Given the description of an element on the screen output the (x, y) to click on. 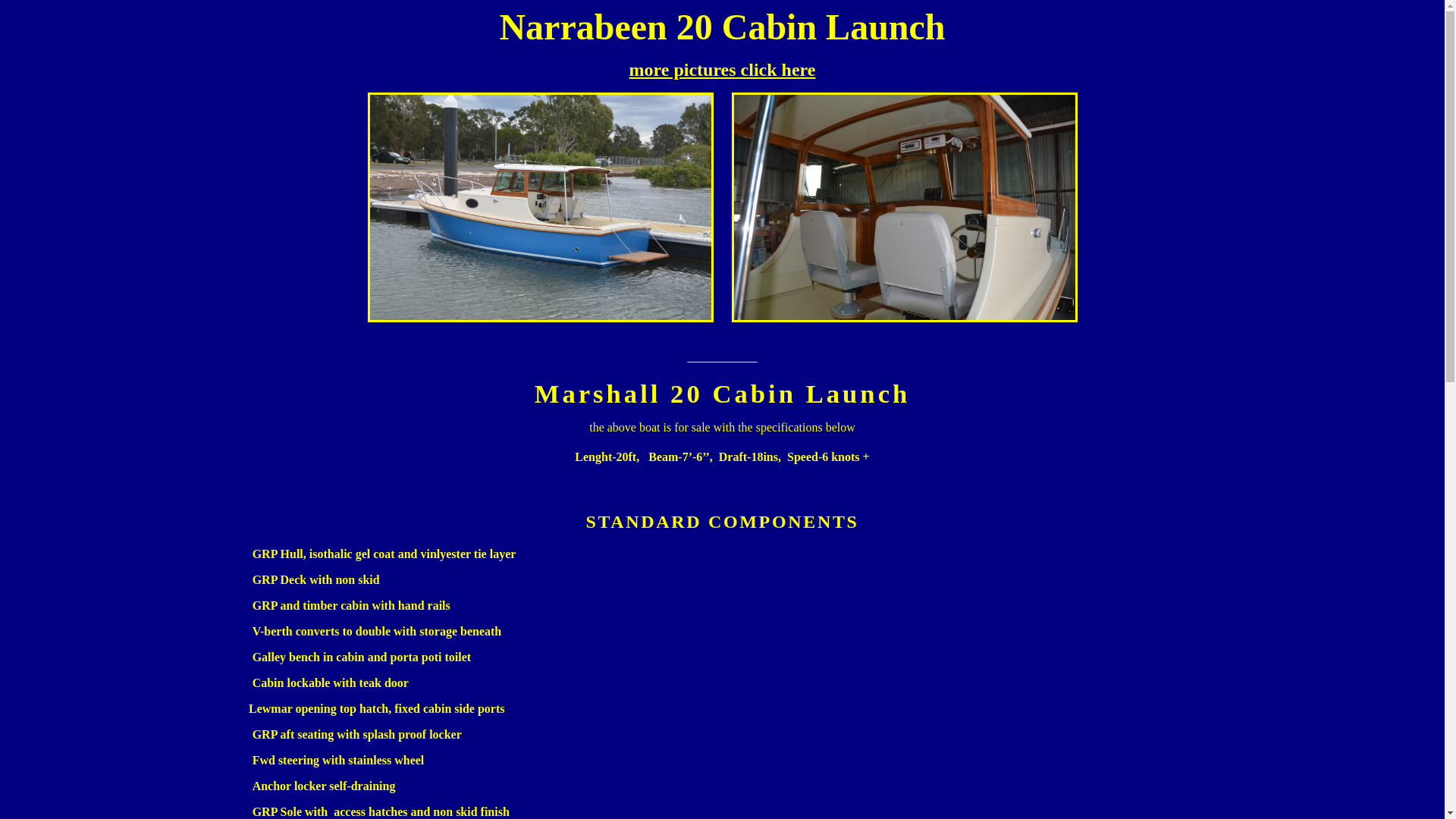
more pictures click here Element type: text (722, 69)
